Given the description of an element on the screen output the (x, y) to click on. 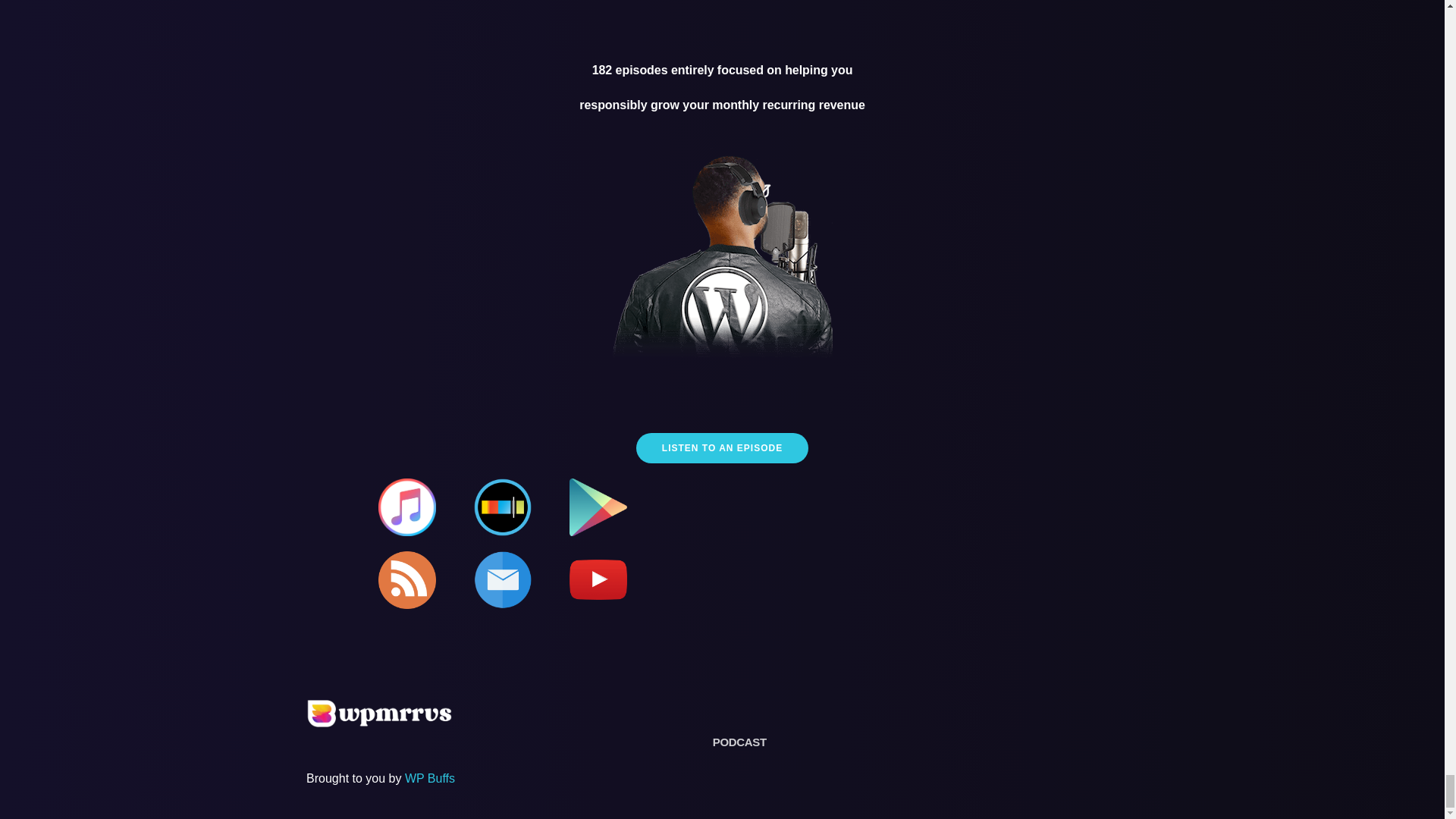
JoeFacingAway (722, 258)
Podcast (740, 741)
RSS Feed (406, 579)
WP Buffs (429, 778)
Stitcher (502, 506)
icon-email (502, 579)
LISTEN TO AN EPISODE (722, 447)
PODCAST (740, 741)
youtubelogo (597, 579)
wpmrrvs (379, 712)
